Given the description of an element on the screen output the (x, y) to click on. 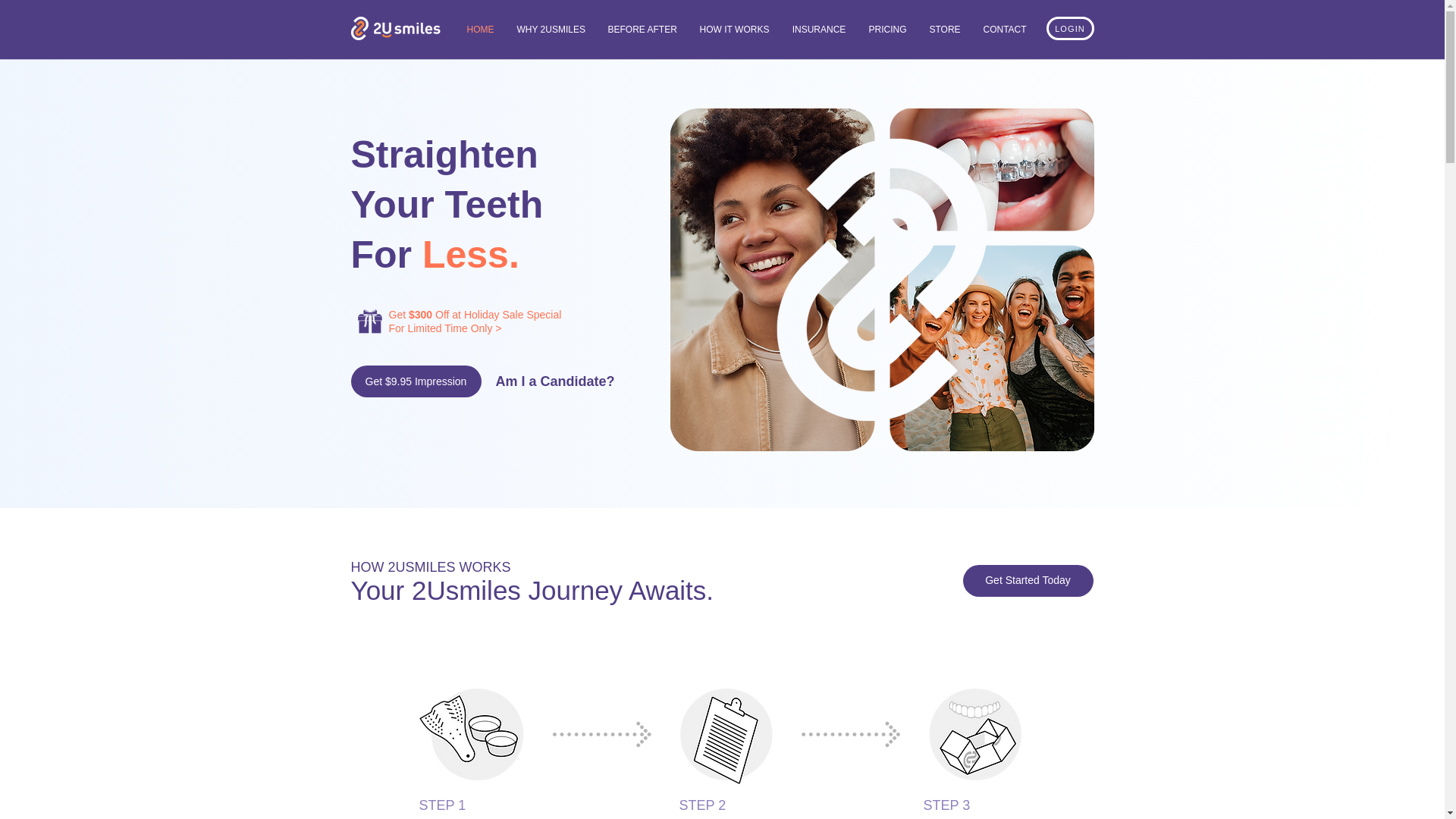
Get $300 Off at Holiday Sale Special
For Limited Time Only > Element type: text (474, 321)
STORE Element type: text (944, 29)
CONTACT Element type: text (1005, 29)
Get $9.95 Impression Element type: text (415, 381)
BEFORE AFTER Element type: text (641, 29)
HOME Element type: text (480, 29)
HOW IT WORKS Element type: text (734, 29)
Am I a Candidate? Element type: text (555, 381)
Get Started Today Element type: text (1028, 580)
LOGIN Element type: text (1070, 28)
WHY 2USMILES Element type: text (550, 29)
INSURANCE Element type: text (819, 29)
